Given the description of an element on the screen output the (x, y) to click on. 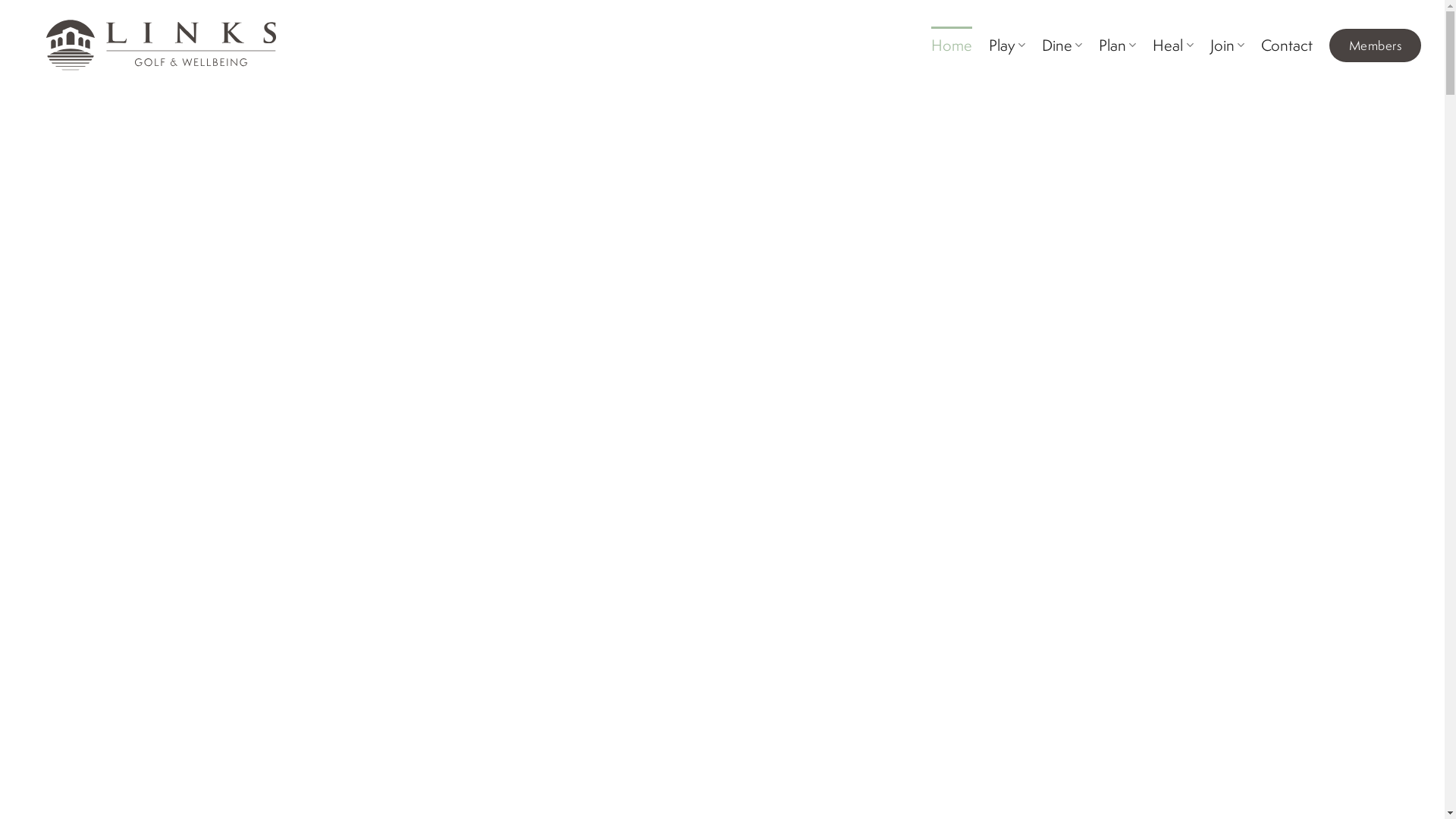
Join Element type: text (1227, 45)
Contact Element type: text (1286, 45)
Links Golf & Wellbeing - Hope Island Golf Course Element type: hover (156, 44)
Skip to content Element type: text (0, 0)
Play Element type: text (1006, 45)
Members Element type: text (1375, 45)
Heal Element type: text (1172, 45)
Home Element type: text (951, 45)
Dine Element type: text (1061, 45)
Plan Element type: text (1116, 45)
